Given the description of an element on the screen output the (x, y) to click on. 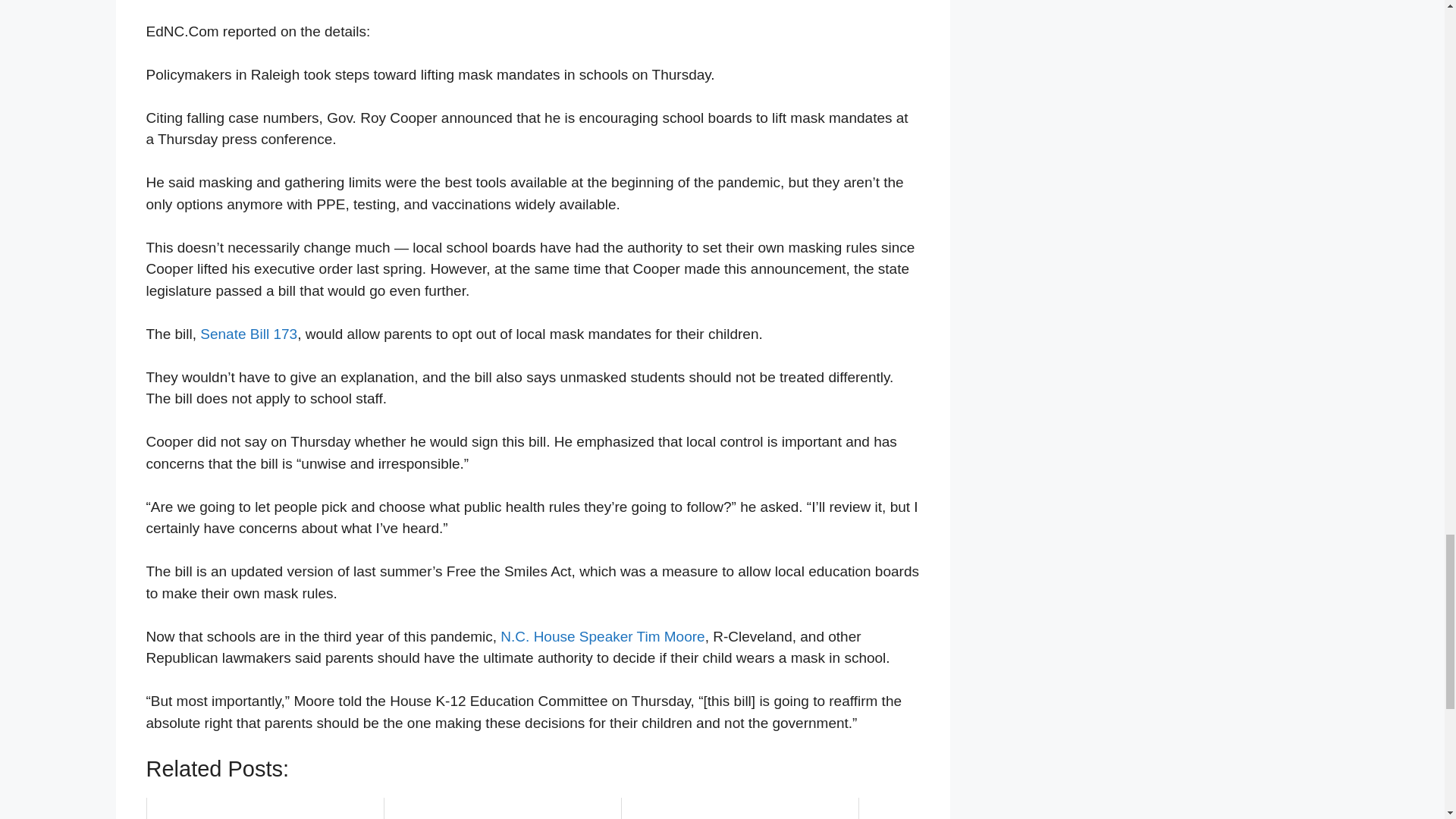
N.C. House Speaker Tim Moore (602, 636)
Senate Bill 173 (248, 333)
